Given the description of an element on the screen output the (x, y) to click on. 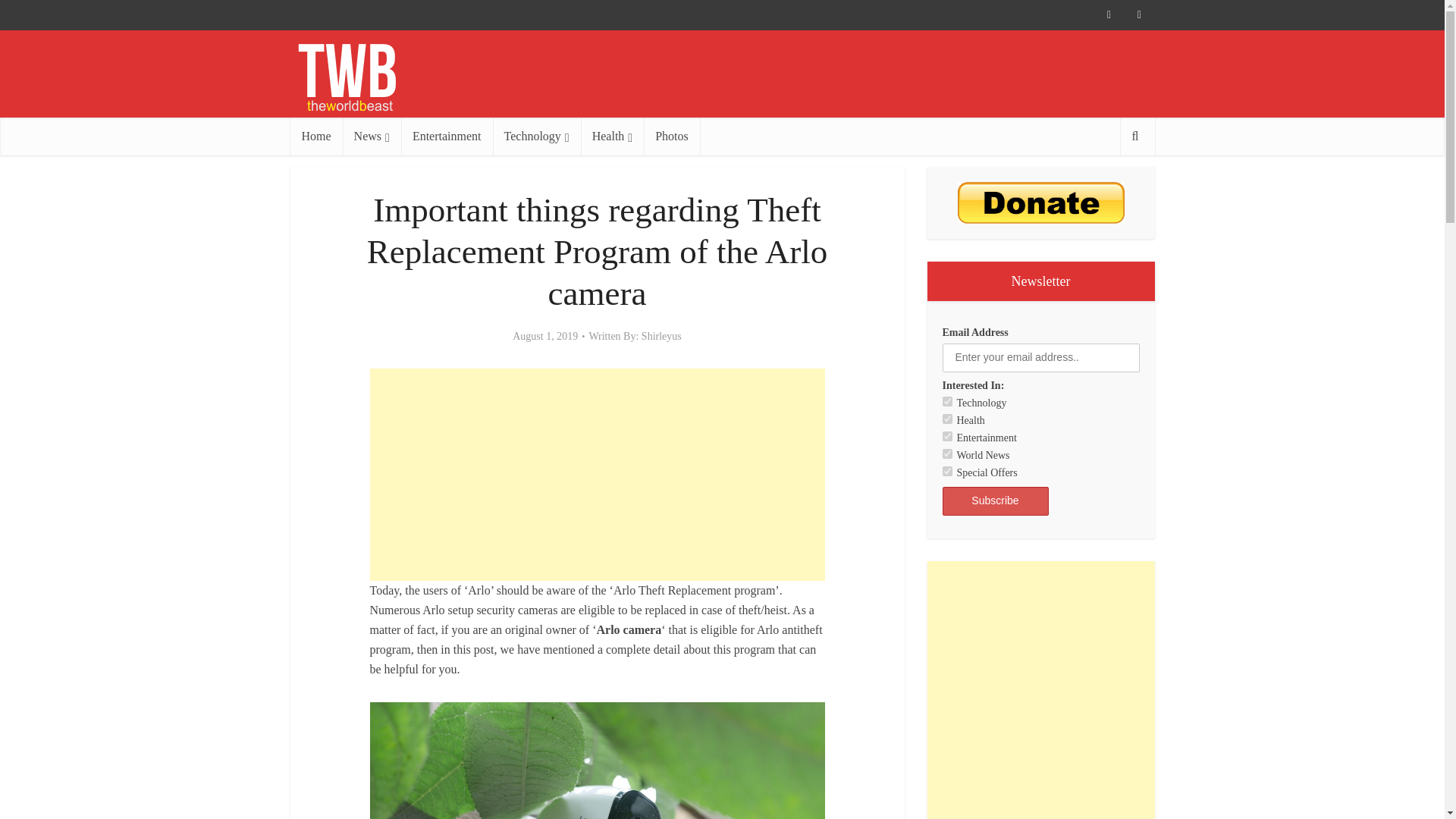
Subscribe (995, 500)
Subscribe (995, 500)
World News (947, 453)
Health (947, 419)
Photos (671, 136)
Health (612, 136)
Home (315, 136)
The World Beast (346, 77)
Shirleyus (661, 336)
Technology (947, 401)
